Given the description of an element on the screen output the (x, y) to click on. 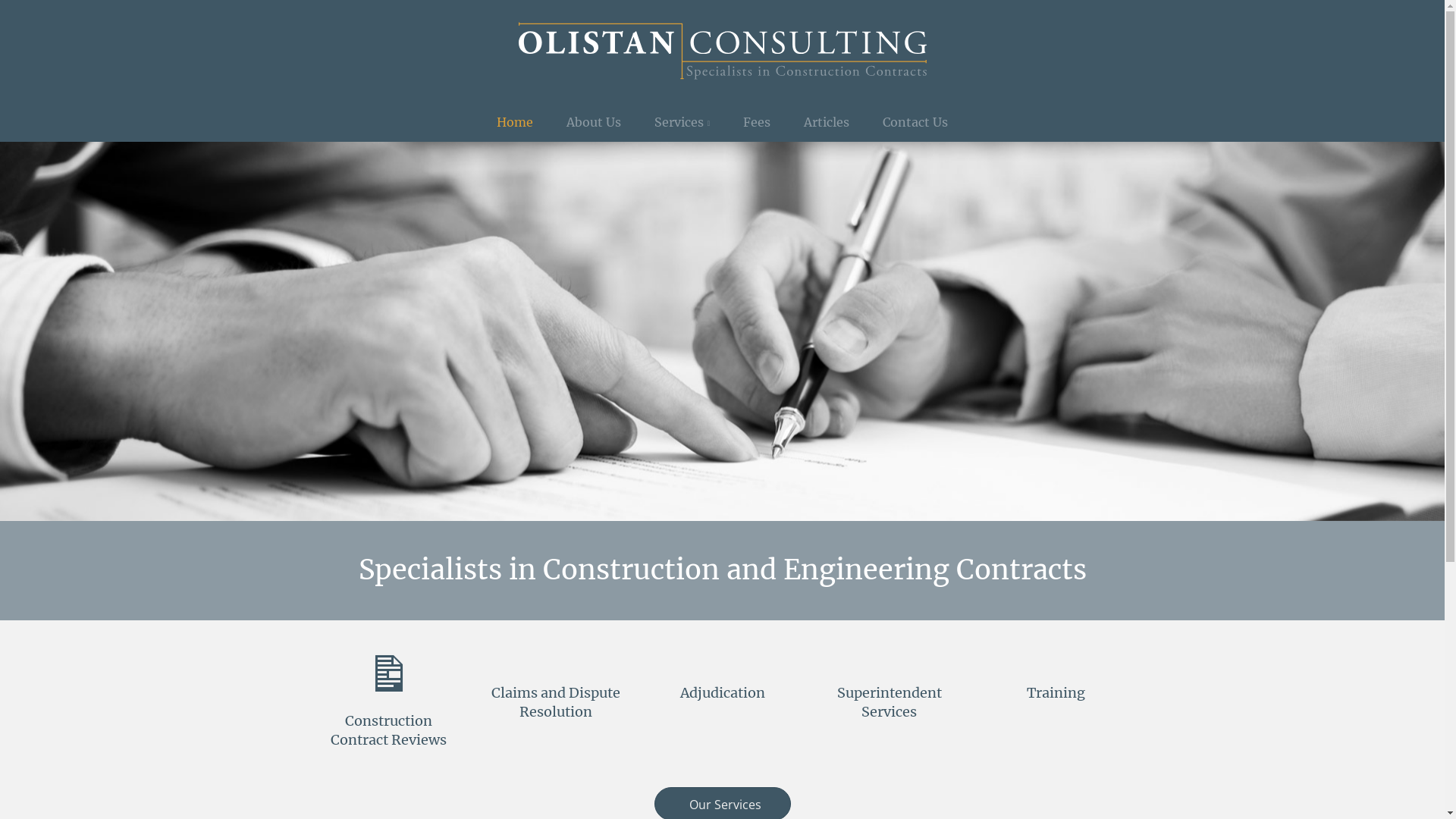
Fees Element type: text (756, 121)
Contact Us Element type: text (915, 121)
Services Element type: text (681, 121)
Adjudication Element type: text (721, 692)
Superintendent Services Element type: text (889, 702)
Training Element type: text (1055, 692)
Construction Contract Reviews Element type: text (388, 730)
Articles Element type: text (826, 121)
About Us Element type: text (593, 121)
Claims and Dispute Resolution Element type: text (555, 702)
Home Element type: text (514, 121)
